Given the description of an element on the screen output the (x, y) to click on. 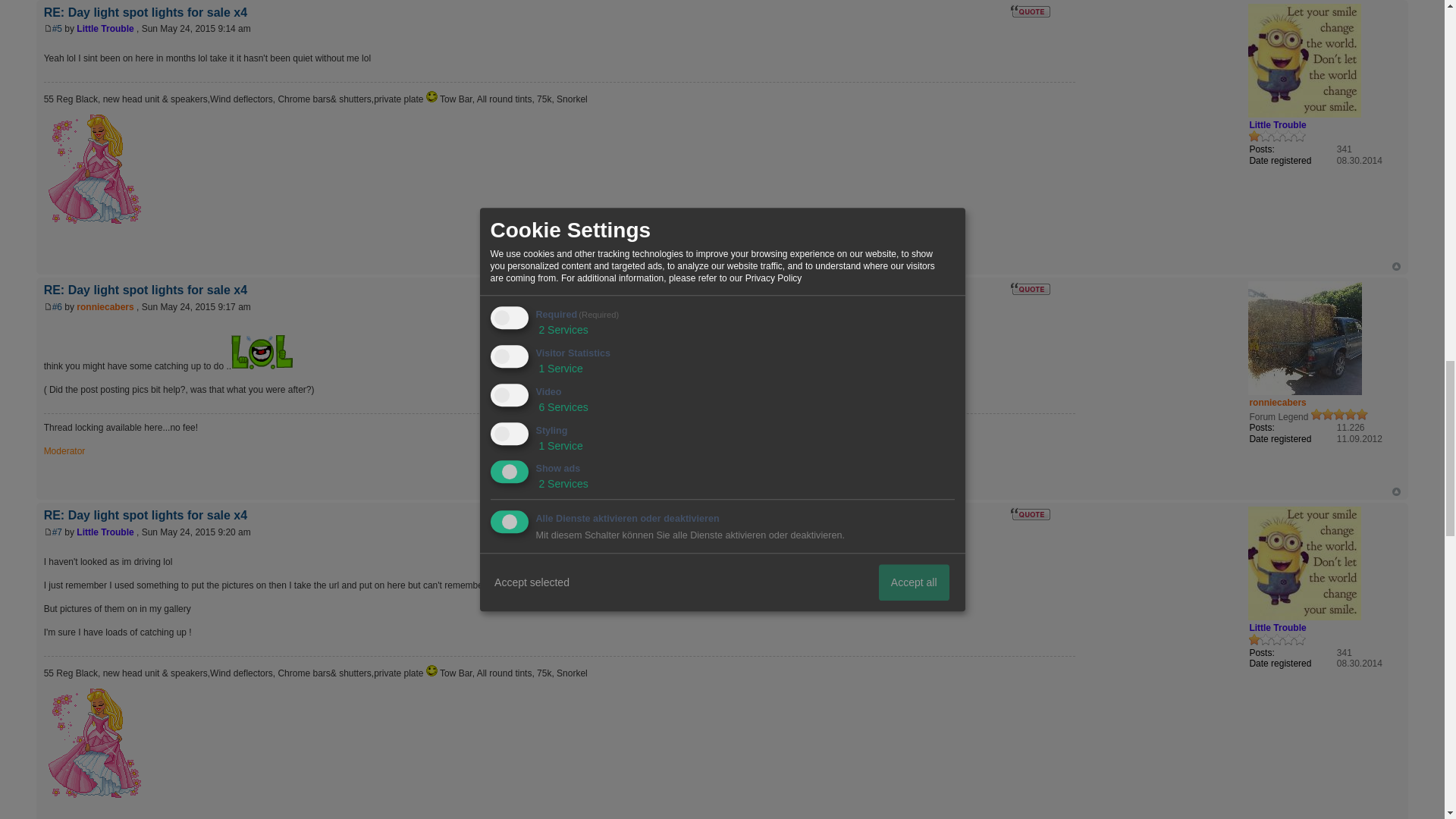
RE: Day light spot lights for sale x4 (57, 532)
Top (1395, 491)
RE: Day light spot lights for sale x4 (57, 307)
Top (1395, 266)
RE: Day light spot lights for sale x4 (57, 28)
